Given the description of an element on the screen output the (x, y) to click on. 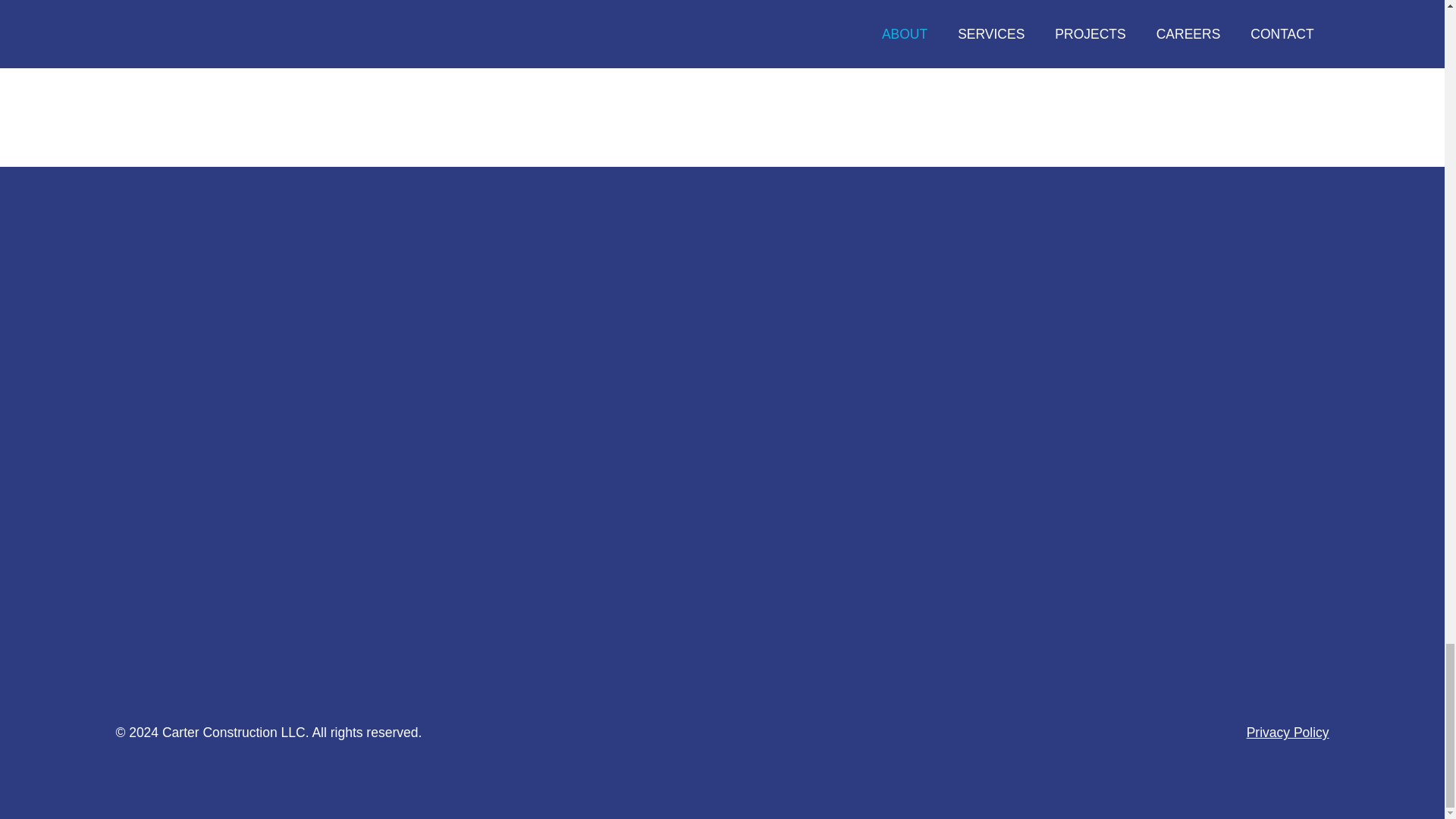
Submit (786, 499)
Privacy Policy (1287, 732)
